Given the description of an element on the screen output the (x, y) to click on. 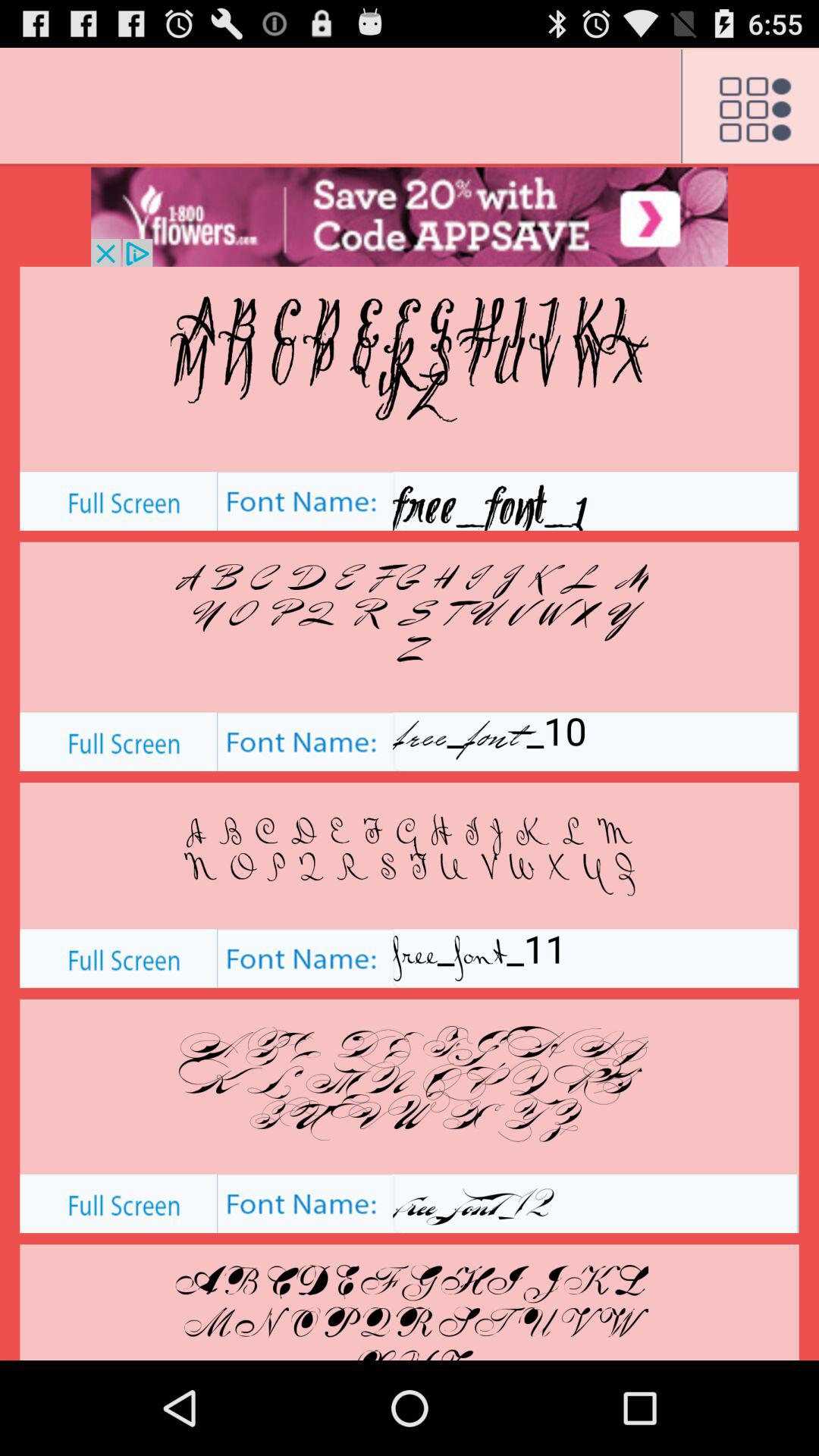
menu button (749, 106)
